Given the description of an element on the screen output the (x, y) to click on. 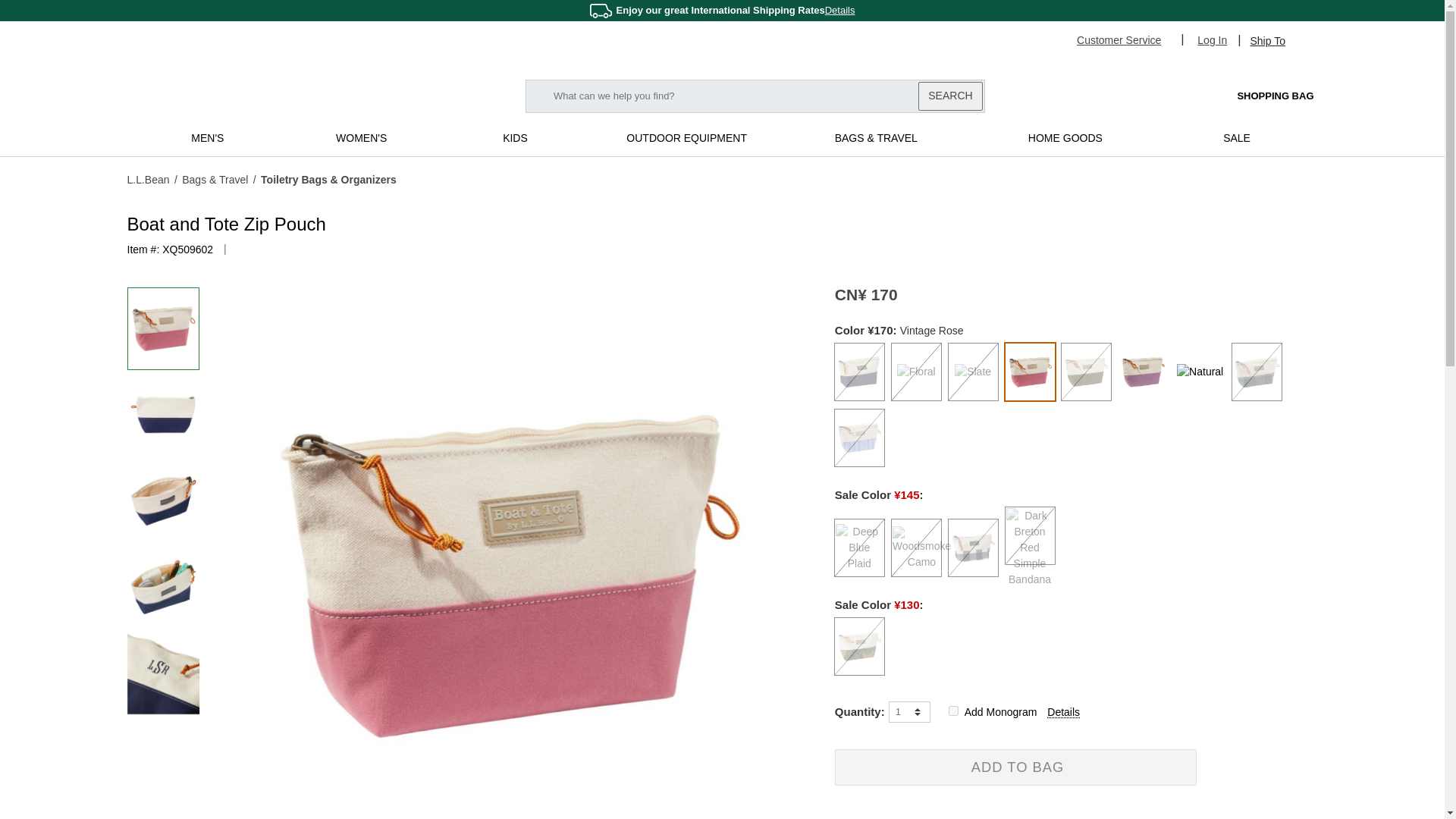
L.L.Bean Home Page L.L.Bean (221, 94)
SHOPPING BAG (1260, 95)
Log In (1211, 39)
Details (840, 9)
Details (840, 9)
SEARCH (949, 95)
L.L.Bean (149, 179)
MEN'S (207, 137)
monogram (953, 710)
Customer Service (1125, 39)
Cart 0 Items (1260, 95)
